Given the description of an element on the screen output the (x, y) to click on. 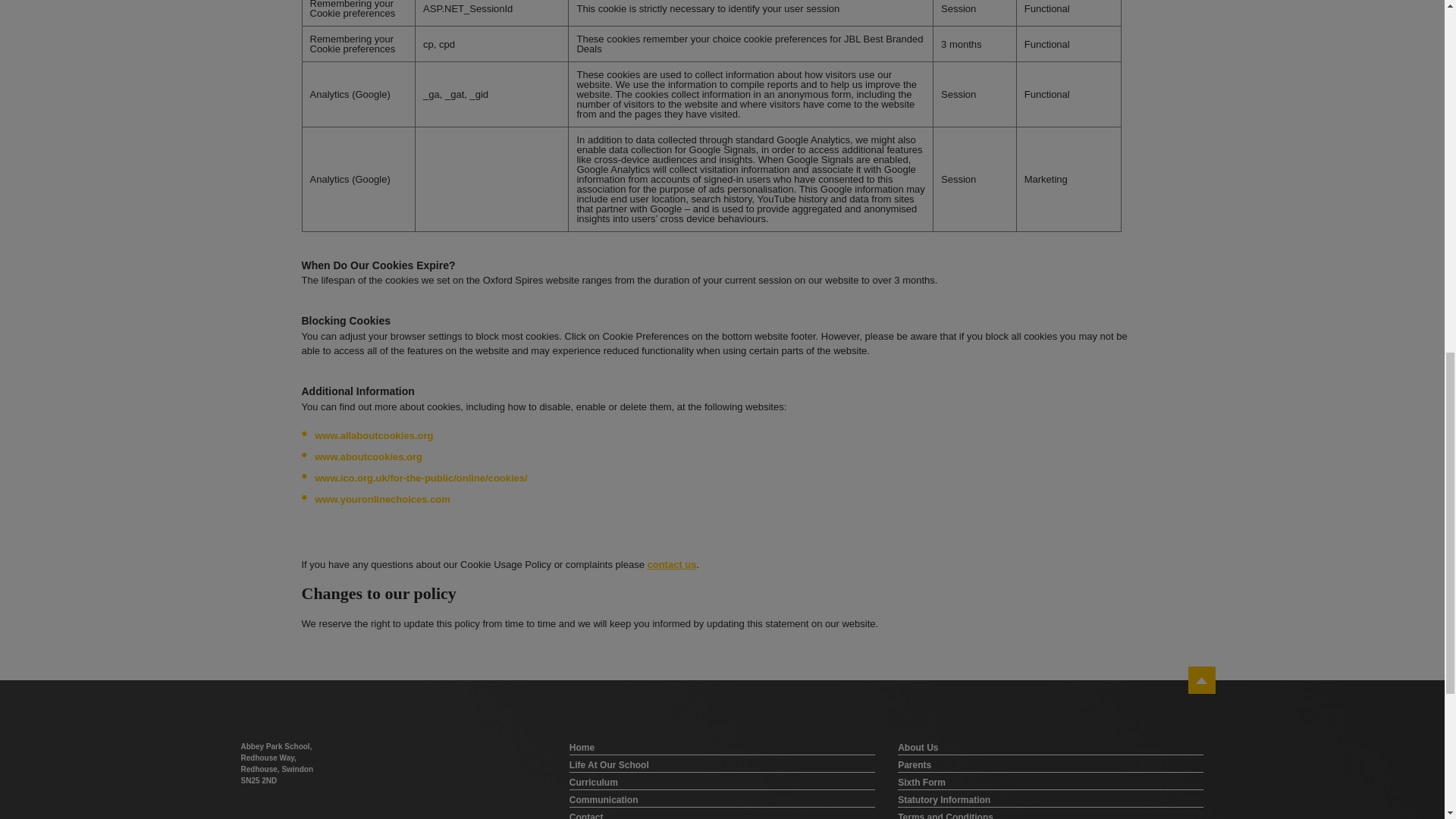
Contact Us (670, 566)
